Given the description of an element on the screen output the (x, y) to click on. 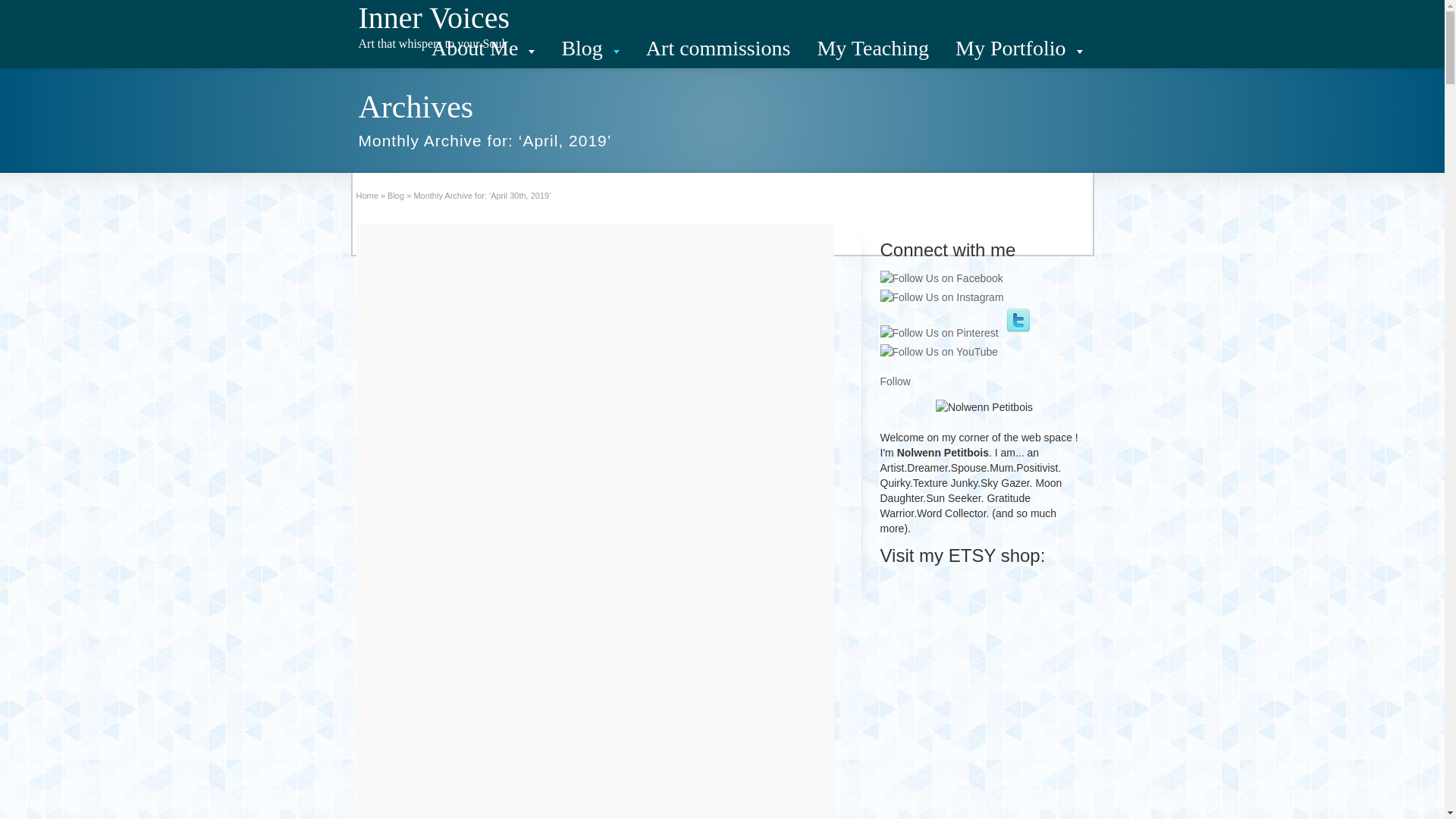
My Teaching (872, 48)
My Portfolio (1018, 48)
Inner Voices (433, 18)
Home (367, 194)
Blog (590, 48)
About Me (483, 48)
Blog (395, 194)
Blog (395, 194)
Art commissions (718, 48)
